Given the description of an element on the screen output the (x, y) to click on. 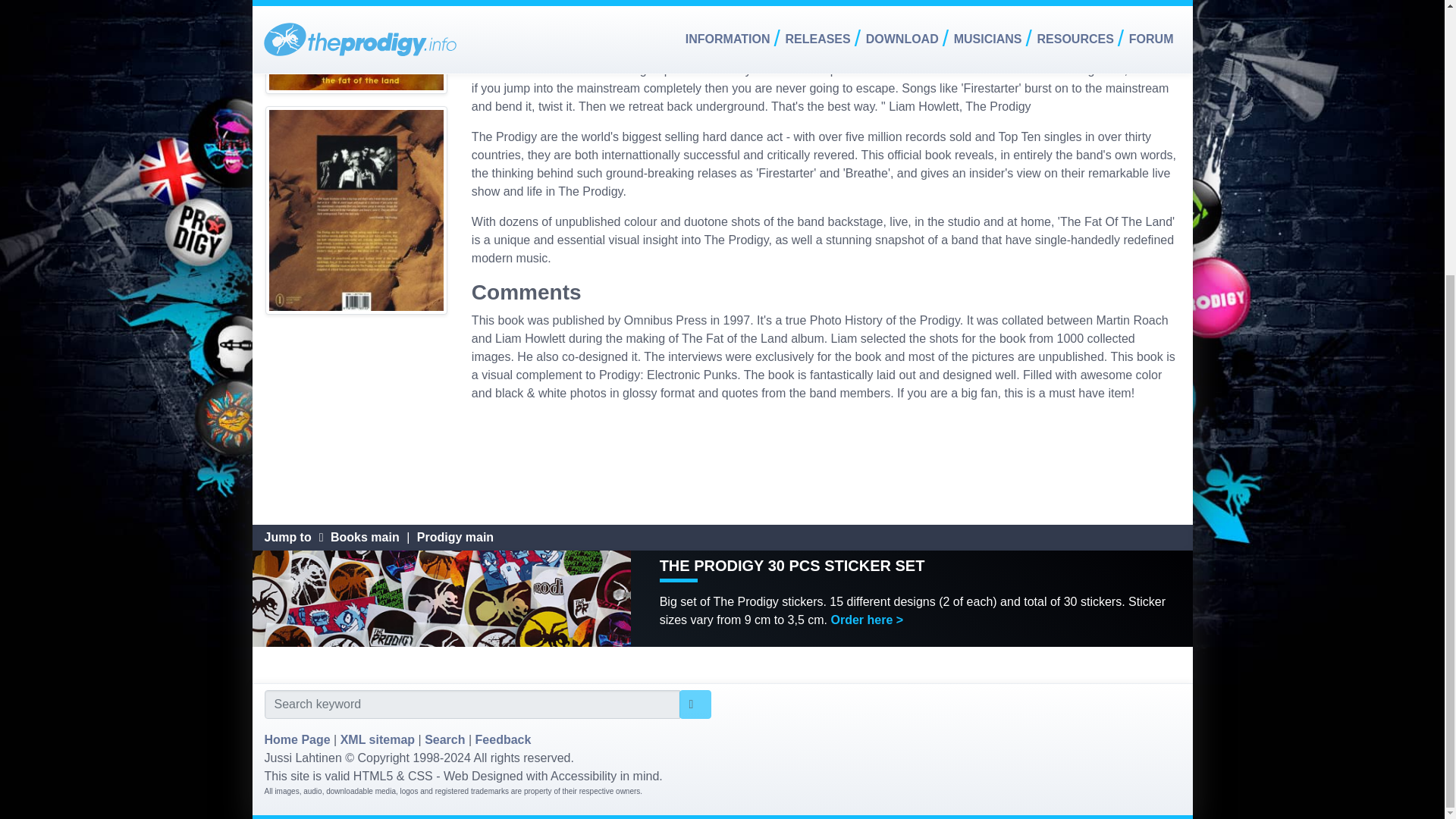
Prodigy The Fat Of The Land Official Book front cover (355, 53)
